Given the description of an element on the screen output the (x, y) to click on. 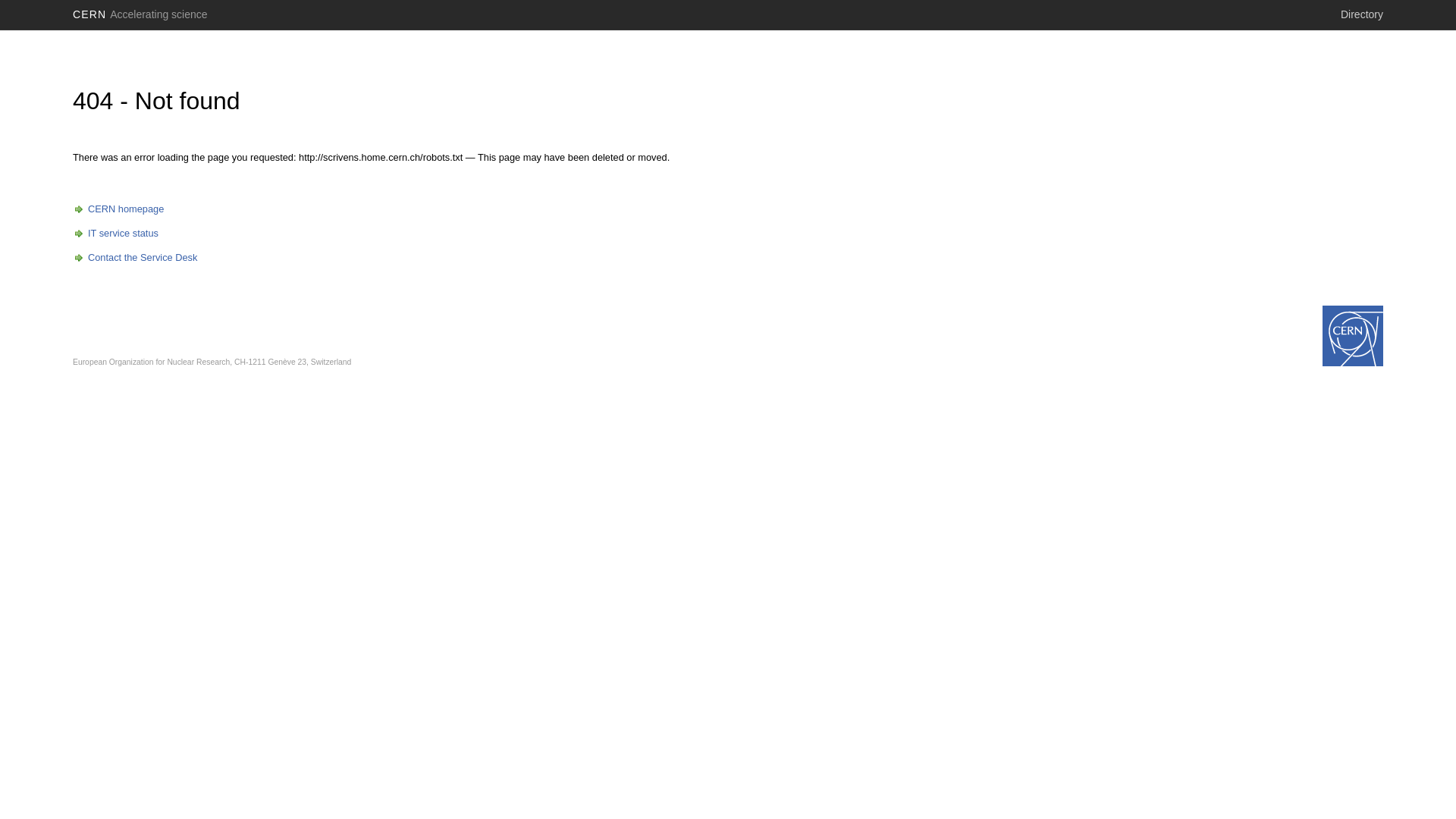
Contact the Service Desk Element type: text (134, 257)
home.cern Element type: hover (1352, 335)
CERN homepage Element type: text (117, 208)
CERN Accelerating science Element type: text (139, 14)
Directory Element type: text (1361, 14)
IT service status Element type: text (115, 232)
